Given the description of an element on the screen output the (x, y) to click on. 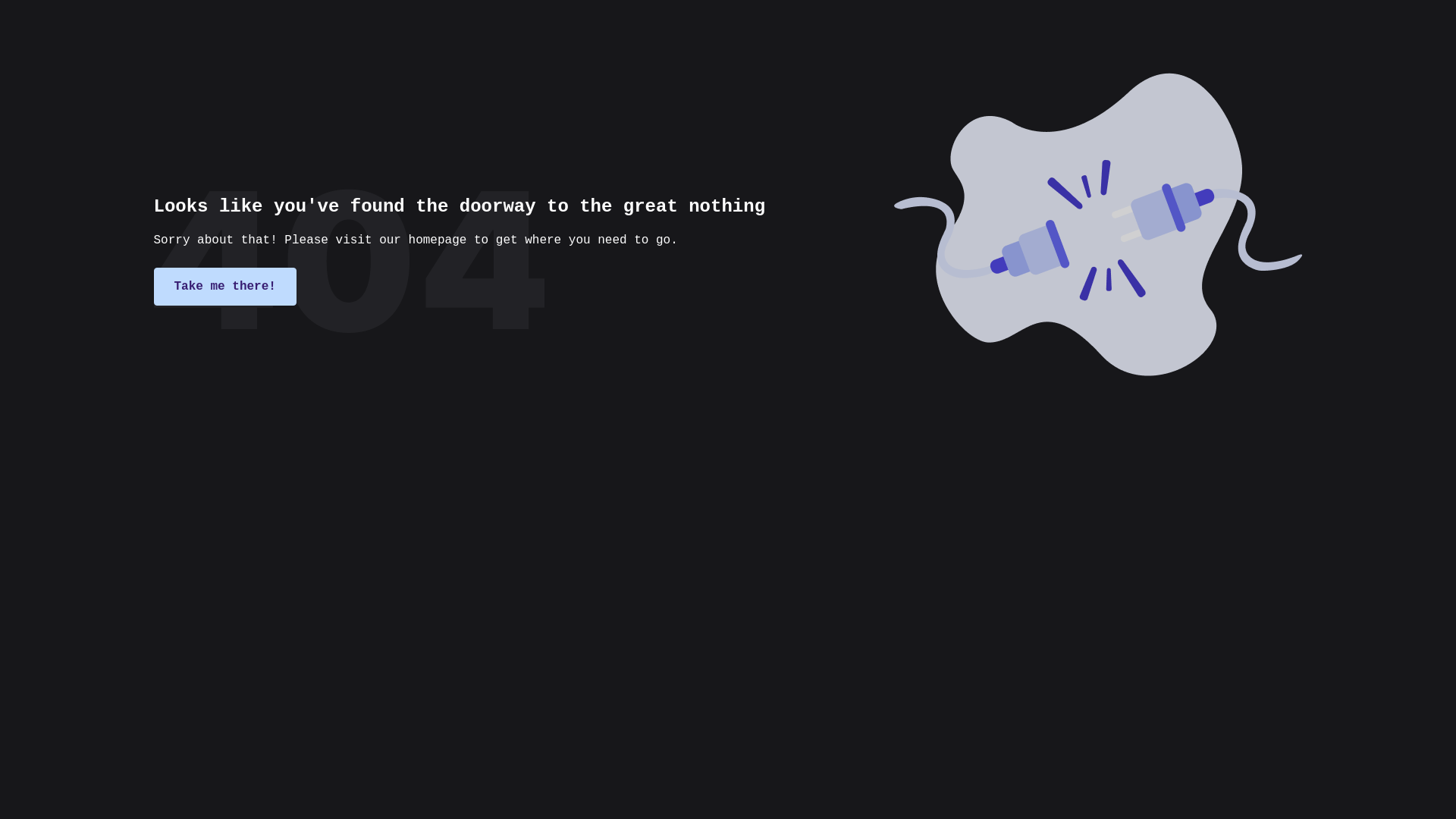
Take me there! Element type: text (224, 286)
